Given the description of an element on the screen output the (x, y) to click on. 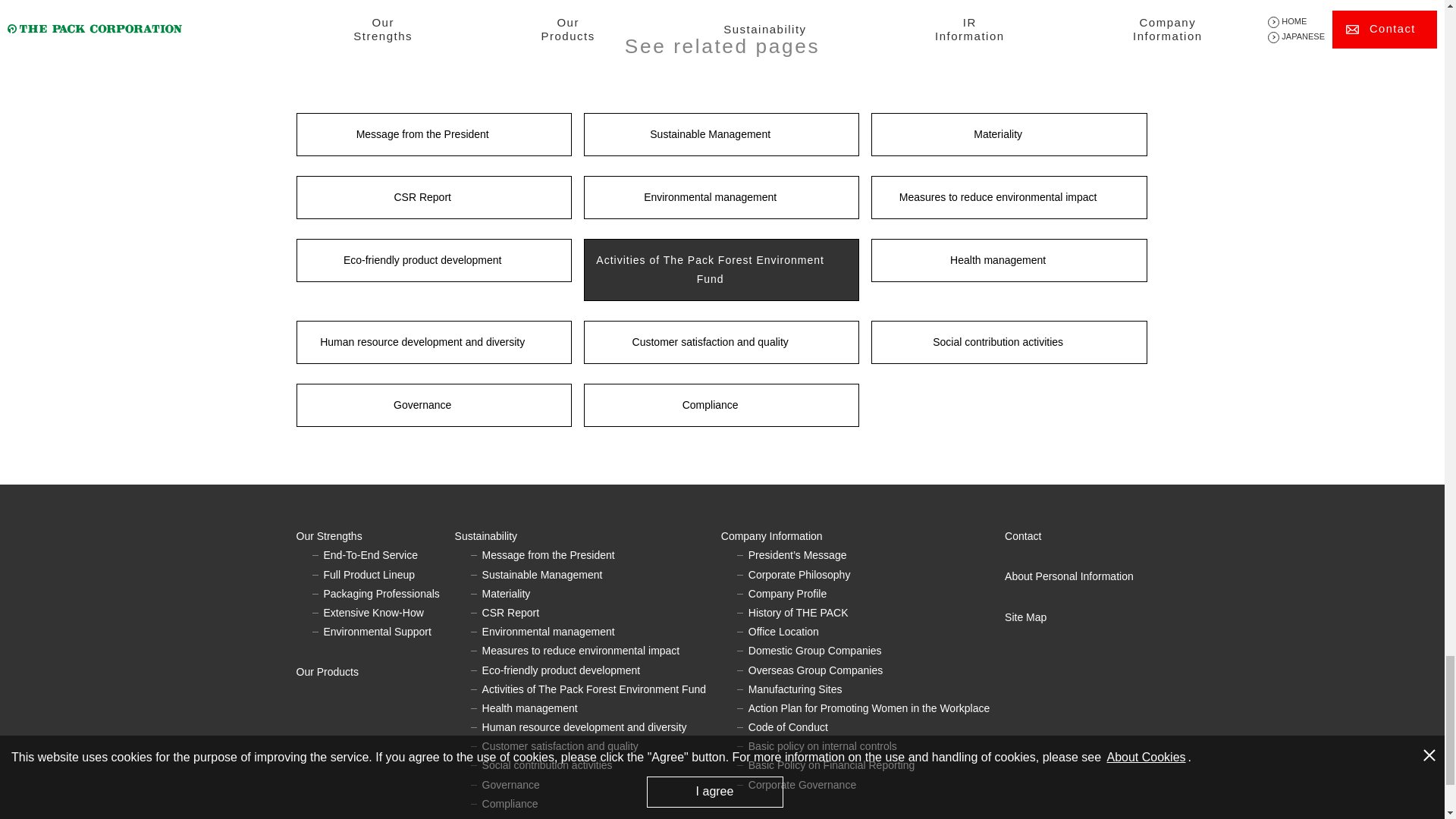
Customer satisfaction and quality (721, 342)
Human resource development and diversity (432, 342)
Our Strengths (374, 536)
Message from the President (432, 134)
Sustainable Management (721, 134)
Measures to reduce environmental impact (1008, 197)
Social contribution activities (1008, 342)
Activities of The Pack Forest Environment Fund (721, 270)
Compliance (721, 405)
End-To-End Service (370, 554)
Eco-friendly product development (432, 260)
Materiality (1008, 134)
Governance (432, 405)
CSR Report (432, 197)
Full Product Lineup (368, 574)
